Given the description of an element on the screen output the (x, y) to click on. 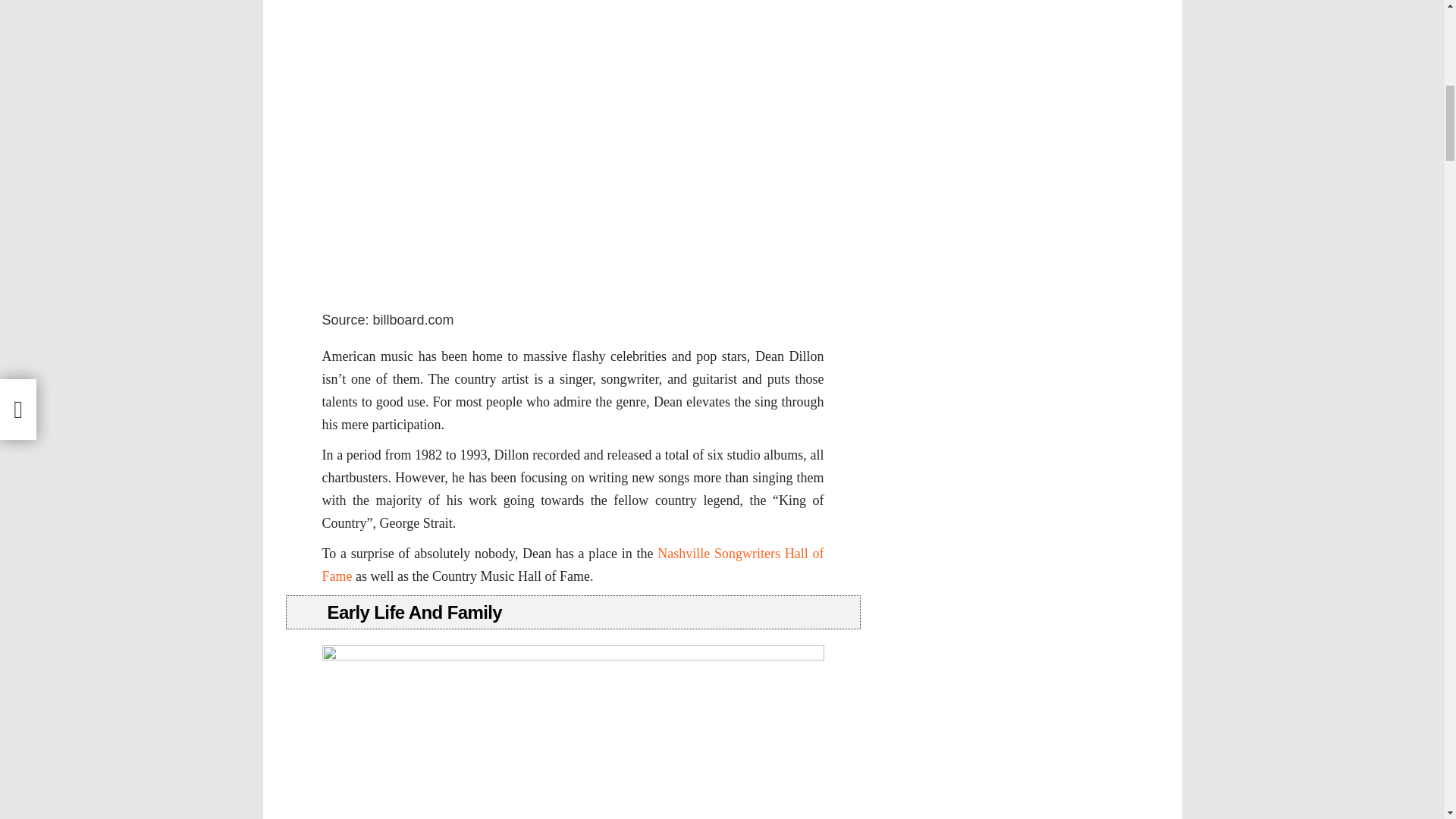
Nashville Songwriters Hall of Fame (572, 564)
